Given the description of an element on the screen output the (x, y) to click on. 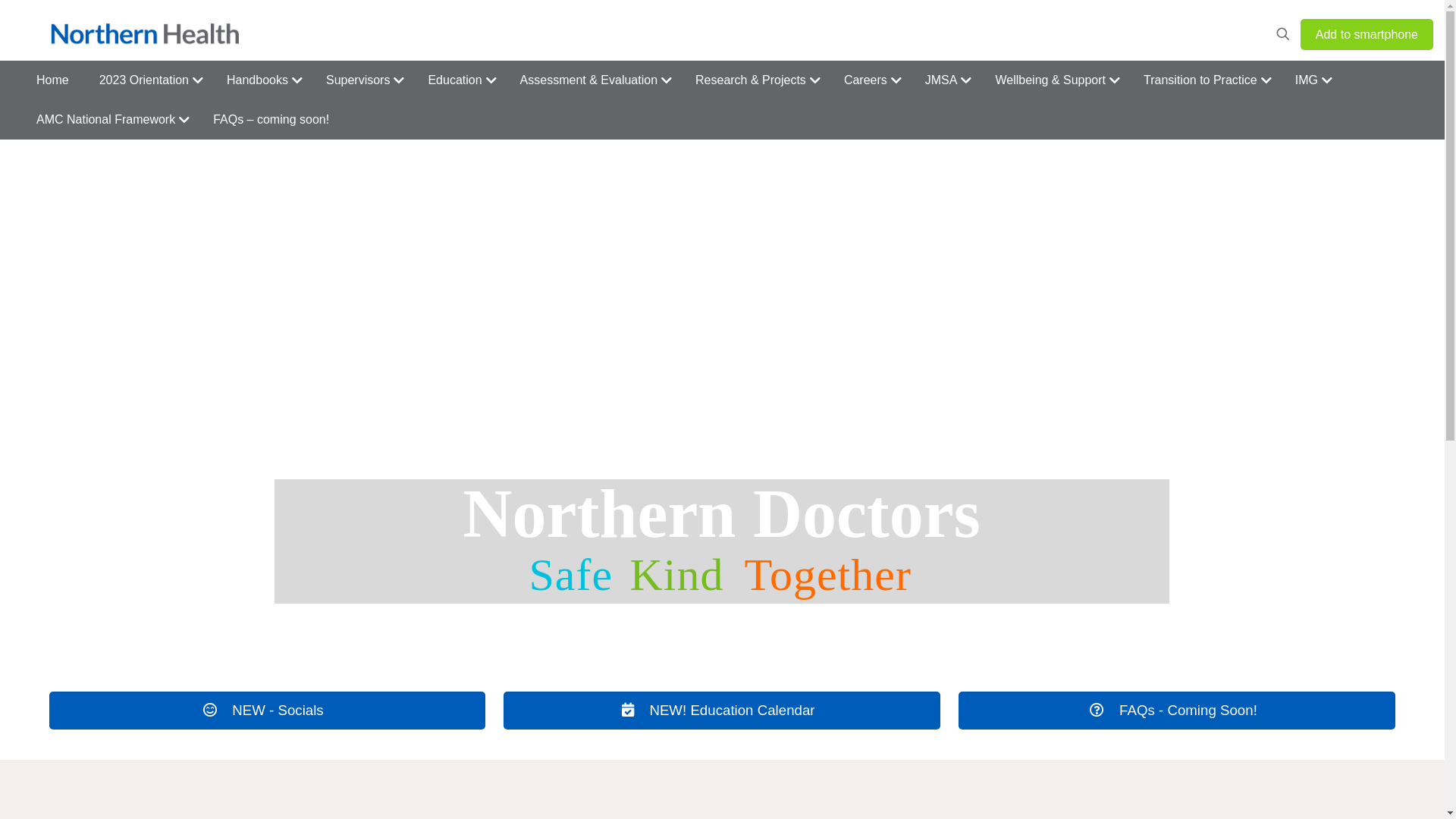
NEW! Education Calendar Element type: text (721, 710)
Northern Doctors Element type: hover (147, 34)
Home Element type: text (52, 80)
Supervisors Element type: text (361, 80)
Transition to Practice Element type: text (1204, 80)
Careers Element type: text (869, 80)
Wellbeing & Support Element type: text (1053, 80)
Education Element type: text (458, 80)
IMG Element type: text (1310, 80)
FAQs - Coming Soon! Element type: text (1176, 710)
Handbooks Element type: text (260, 80)
AMC National Framework Element type: text (109, 119)
Assessment & Evaluation Element type: text (592, 80)
Add to smartphone Element type: text (1366, 33)
2023 Orientation Element type: text (147, 80)
JMSA Element type: text (945, 80)
NEW - Socials Element type: text (266, 710)
Research & Projects Element type: text (754, 80)
